Given the description of an element on the screen output the (x, y) to click on. 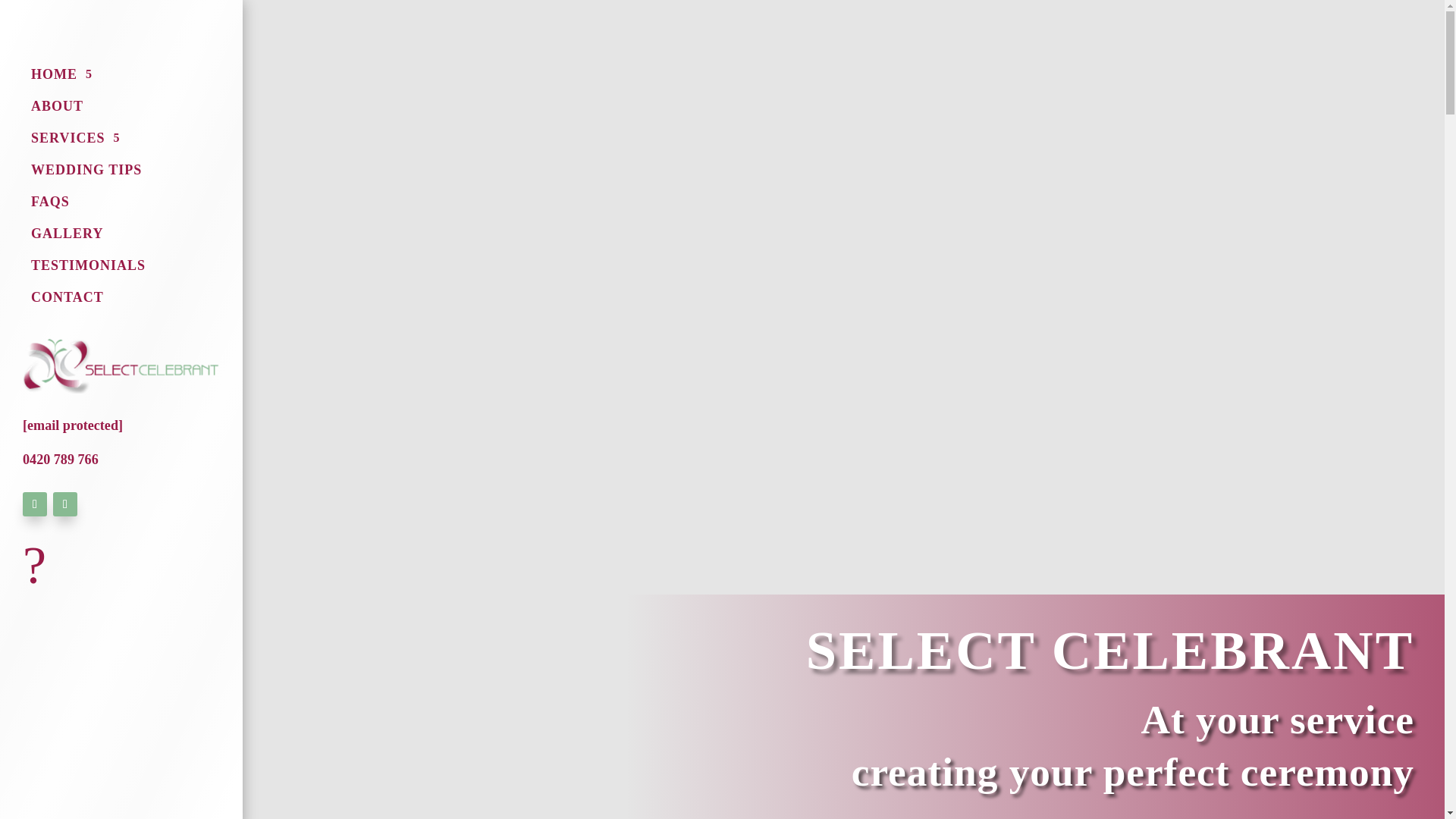
CONTACT (66, 299)
TESTIMONIALS (87, 268)
ABOUT (56, 108)
Select Celebrant (121, 365)
FAQS (49, 204)
SERVICES (74, 140)
GALLERY (66, 236)
Select Celebrant (34, 578)
HOME (61, 76)
Follow on Facebook (34, 504)
